Given the description of an element on the screen output the (x, y) to click on. 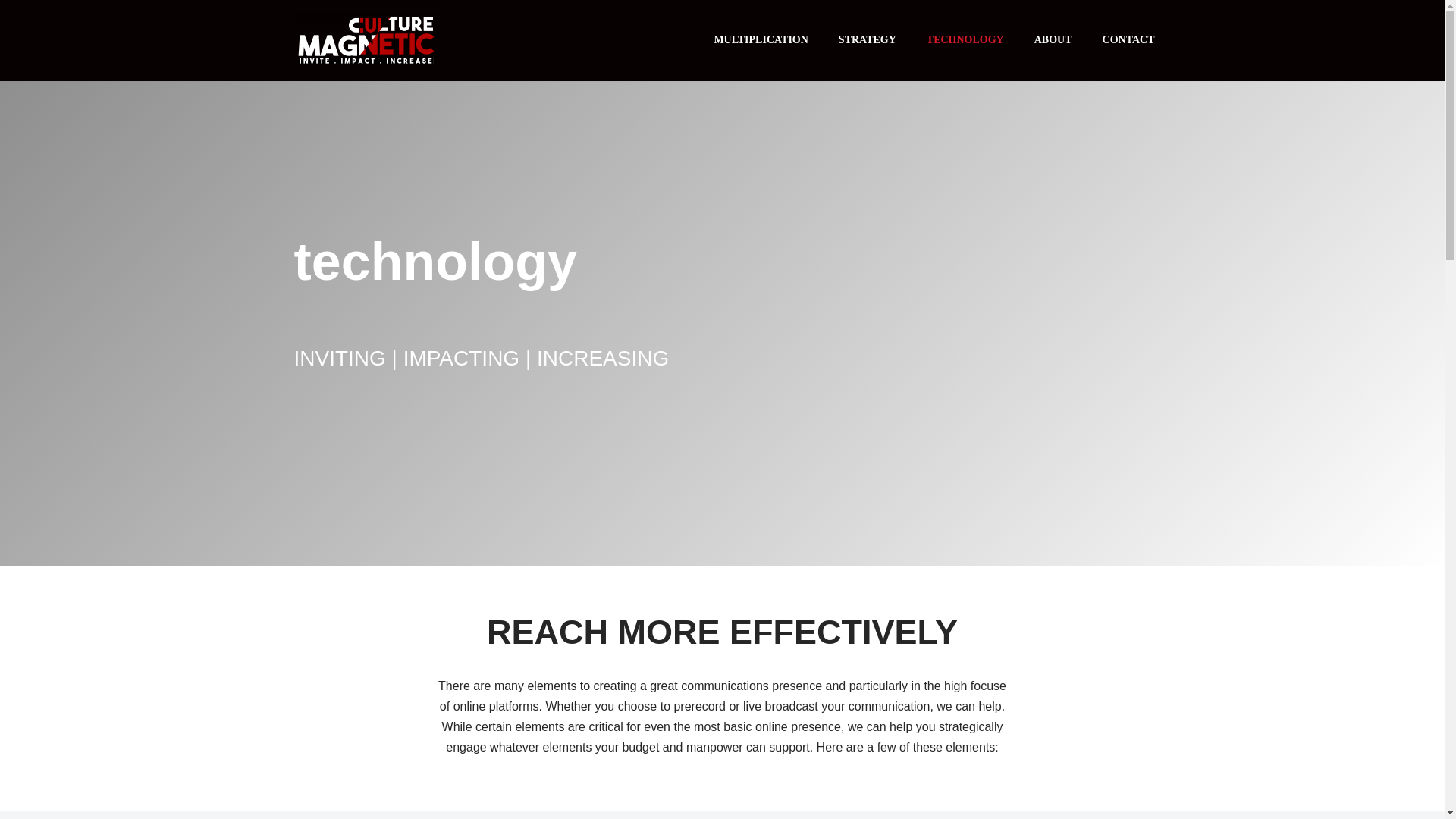
ABOUT (1052, 40)
MULTIPLICATION (760, 40)
Skip to content (11, 31)
Culture Magnetic (365, 40)
TECHNOLOGY (965, 40)
STRATEGY (867, 40)
CONTACT (1128, 40)
